Given the description of an element on the screen output the (x, y) to click on. 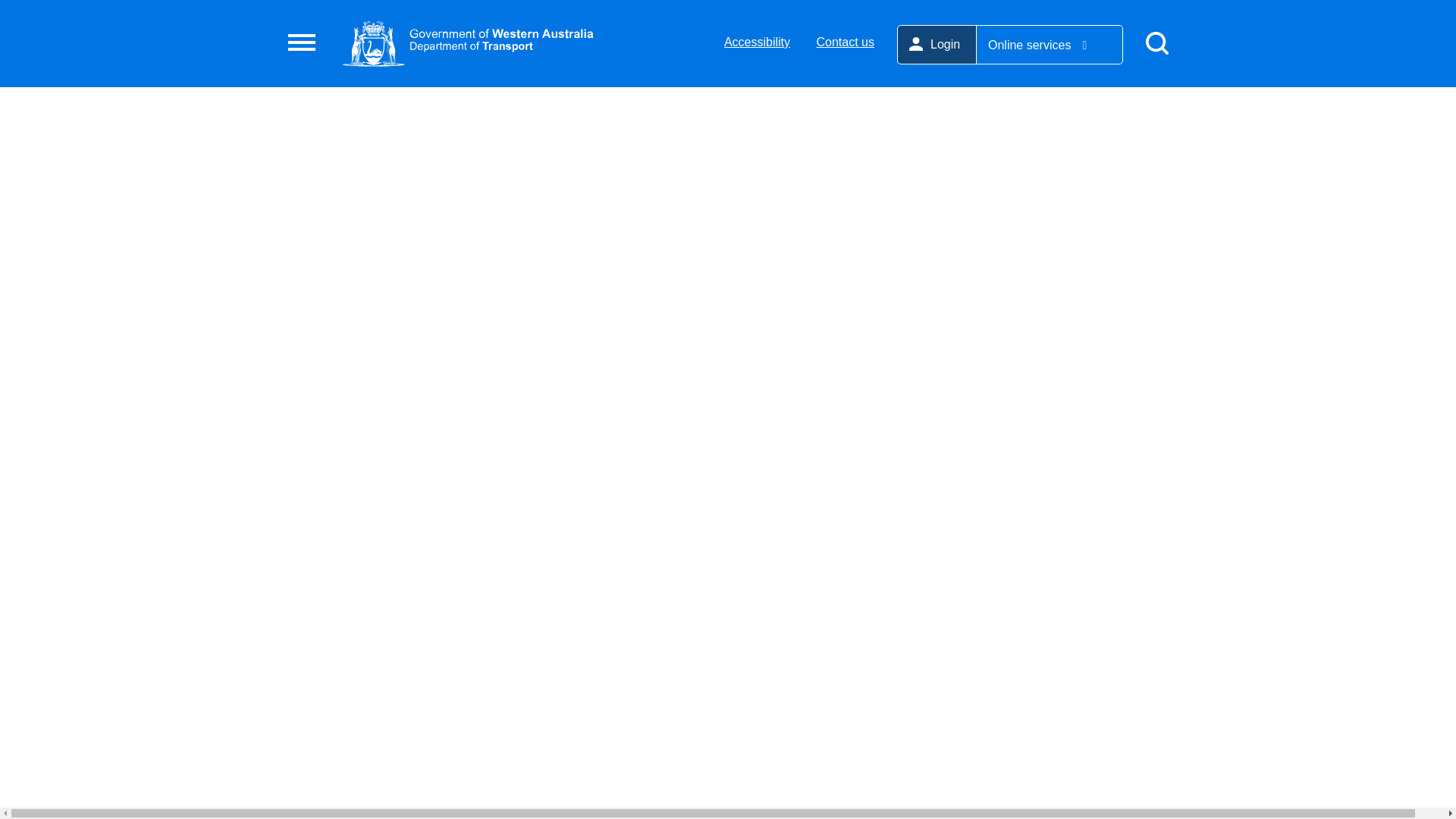
Accessibility (756, 42)
Online services (1049, 44)
Contact us (845, 42)
Department of Transport (468, 43)
Skip to content (29, 21)
Open search menu (1156, 43)
Open online services menu (1049, 44)
